Given the description of an element on the screen output the (x, y) to click on. 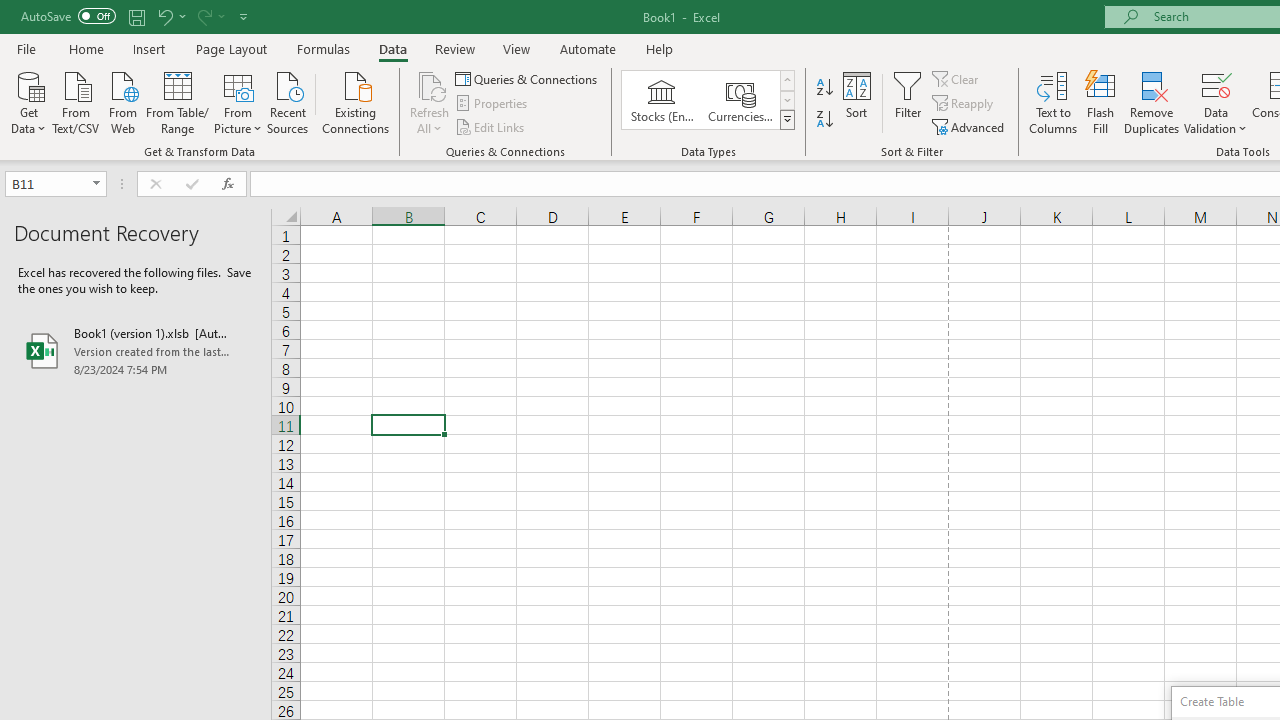
Sort Z to A (824, 119)
From Web (122, 101)
Automate (588, 48)
Clear (957, 78)
Properties (492, 103)
Quick Access Toolbar (136, 16)
Remove Duplicates (1151, 102)
Refresh All (429, 102)
Sort... (856, 102)
Name Box (56, 183)
Data Validation... (1215, 84)
Row up (786, 79)
Text to Columns... (1053, 102)
Undo (170, 15)
Book1 (version 1).xlsb  [AutoRecovered] (136, 350)
